Given the description of an element on the screen output the (x, y) to click on. 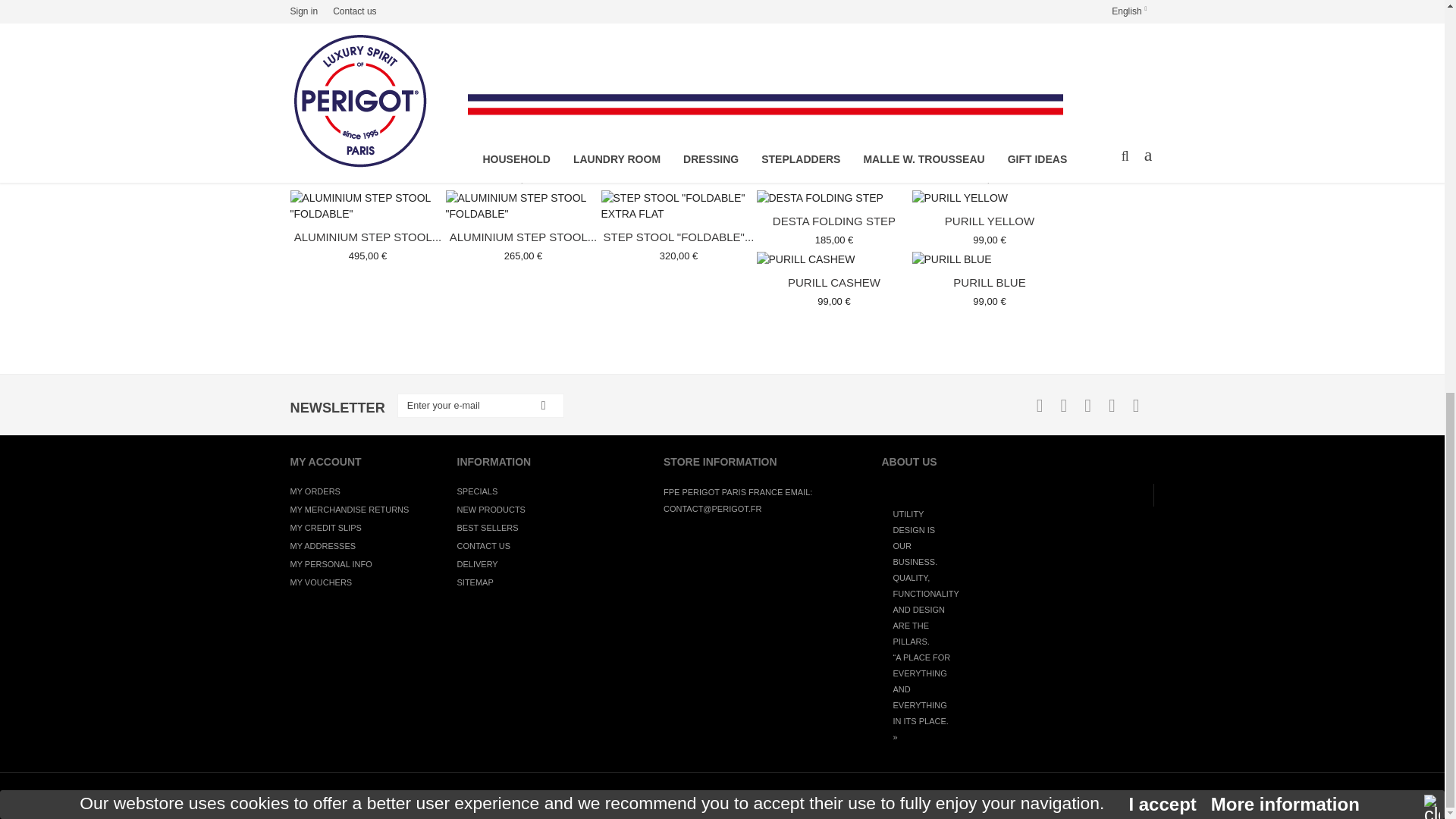
Enter your e-mail (480, 405)
I accept (1161, 52)
